Given the description of an element on the screen output the (x, y) to click on. 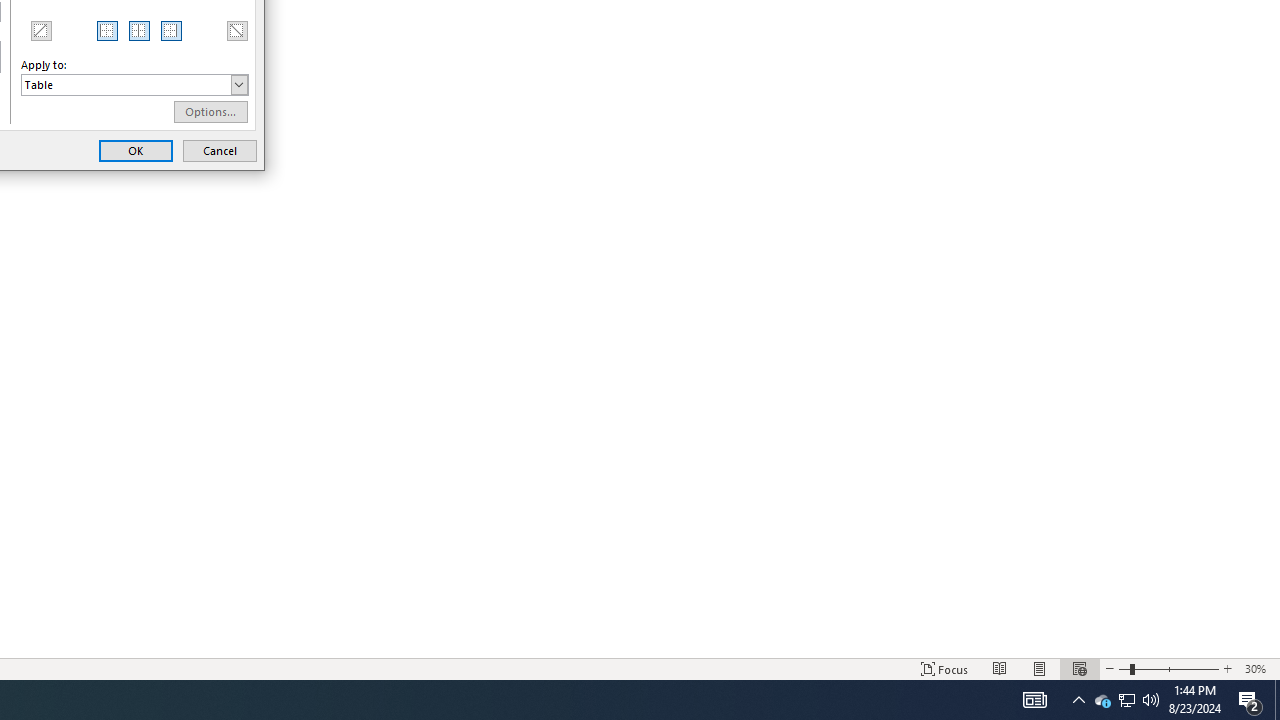
Cancel (219, 150)
Q2790: 100% (1151, 699)
Zoom 30% (1258, 668)
Notification Chevron (1126, 699)
Options... (1078, 699)
User Promoted Notification Area (210, 111)
AutomationID: 4105 (1126, 699)
Diagonal Up Border (1034, 699)
Diagonal Down Border (40, 30)
